Given the description of an element on the screen output the (x, y) to click on. 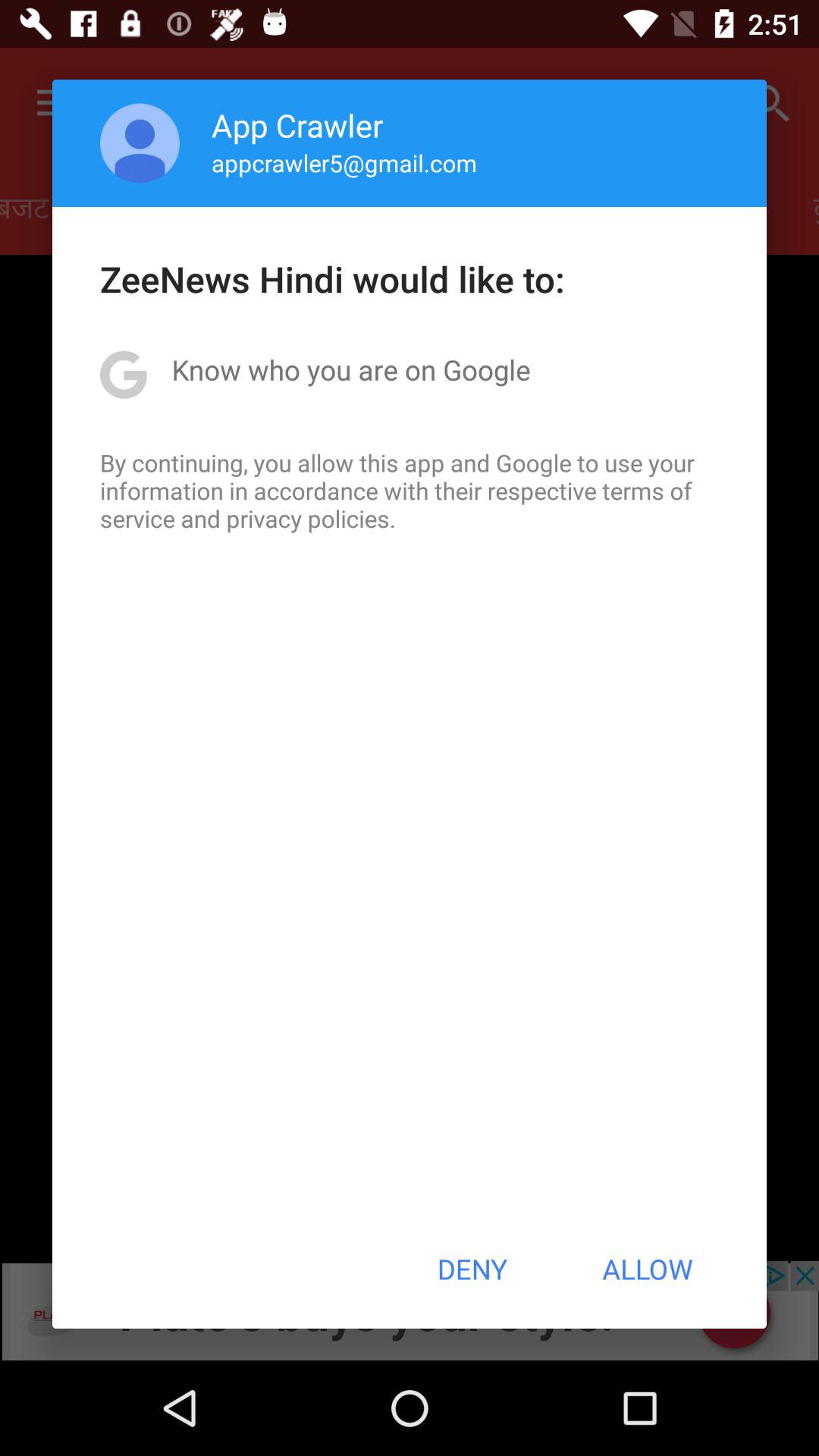
turn off button to the left of allow (471, 1268)
